Given the description of an element on the screen output the (x, y) to click on. 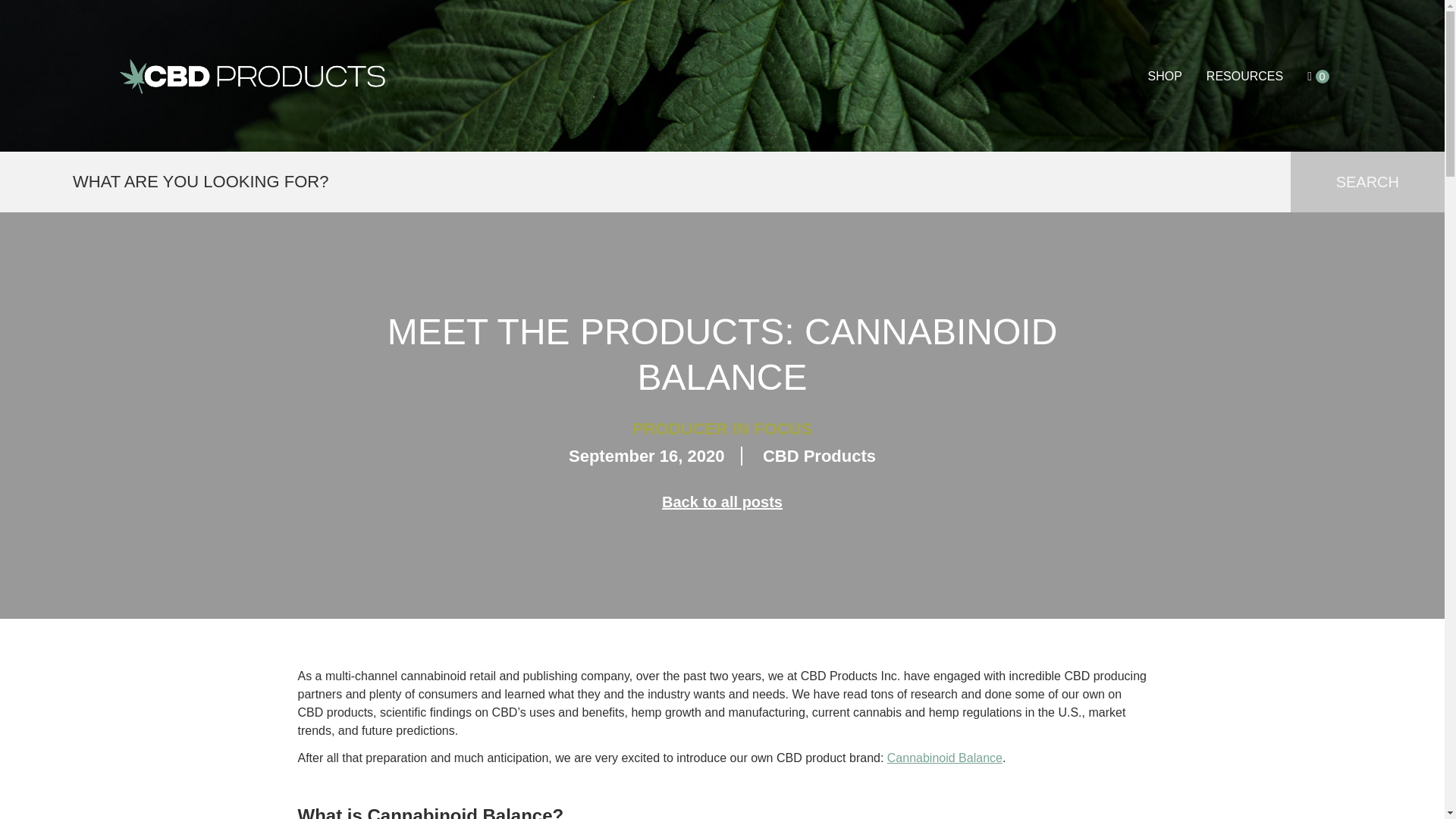
Cannabinoid Balance (944, 757)
Back to all posts (722, 501)
PRODUCER IN FOCUS (721, 428)
View your shopping cart (1317, 76)
RESOURCES (1244, 76)
SHOP (1163, 76)
0 (1317, 76)
